Given the description of an element on the screen output the (x, y) to click on. 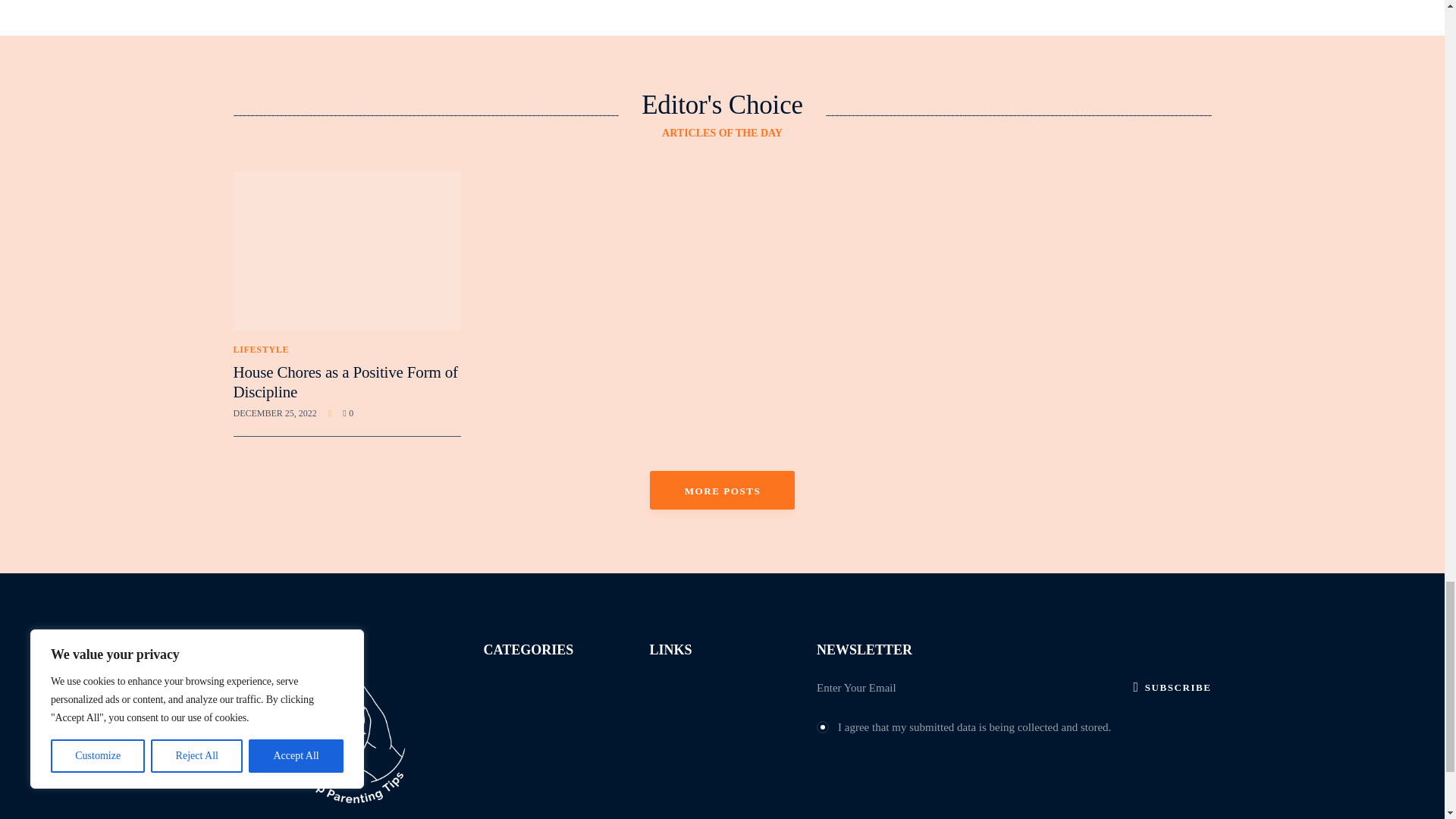
1 (821, 725)
